Given the description of an element on the screen output the (x, y) to click on. 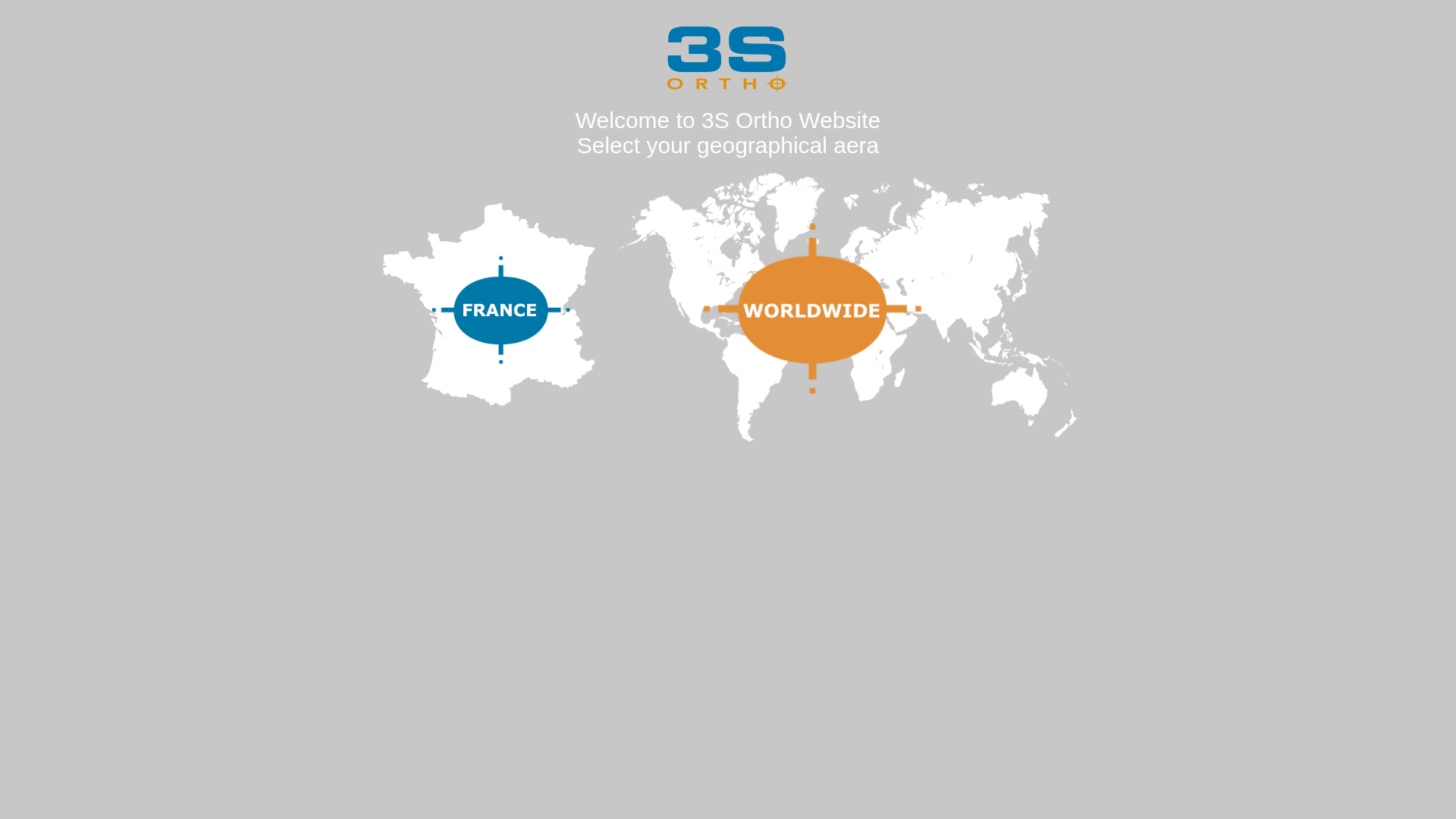
Worldwide Element type: hover (847, 306)
France Element type: hover (487, 304)
3S Ortho Element type: hover (727, 59)
